Given the description of an element on the screen output the (x, y) to click on. 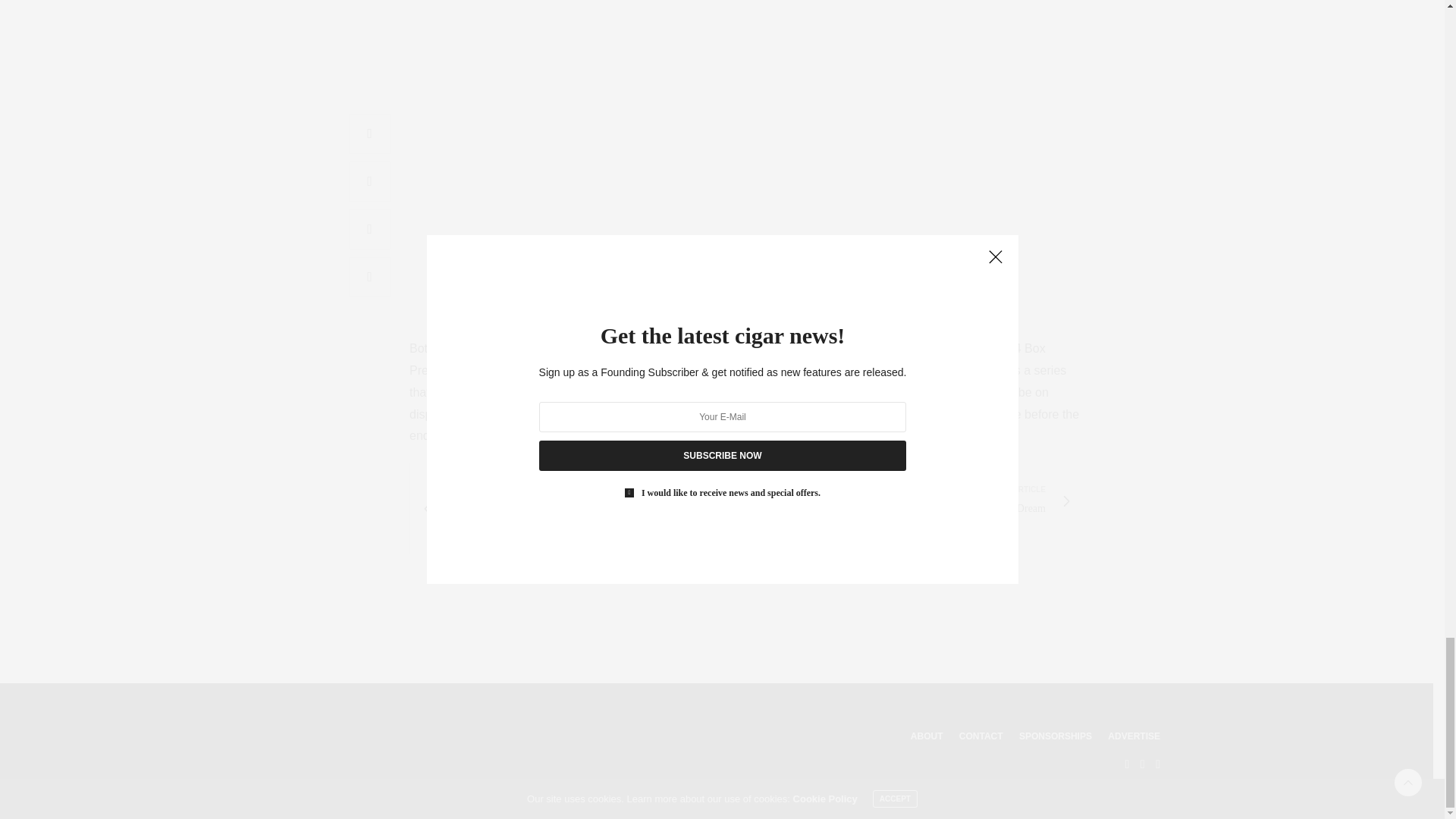
CONTACT (909, 501)
Cigar Public (981, 736)
ADVERTISE (384, 735)
SPONSORSHIPS (1134, 736)
ABOUT (1055, 736)
